Given the description of an element on the screen output the (x, y) to click on. 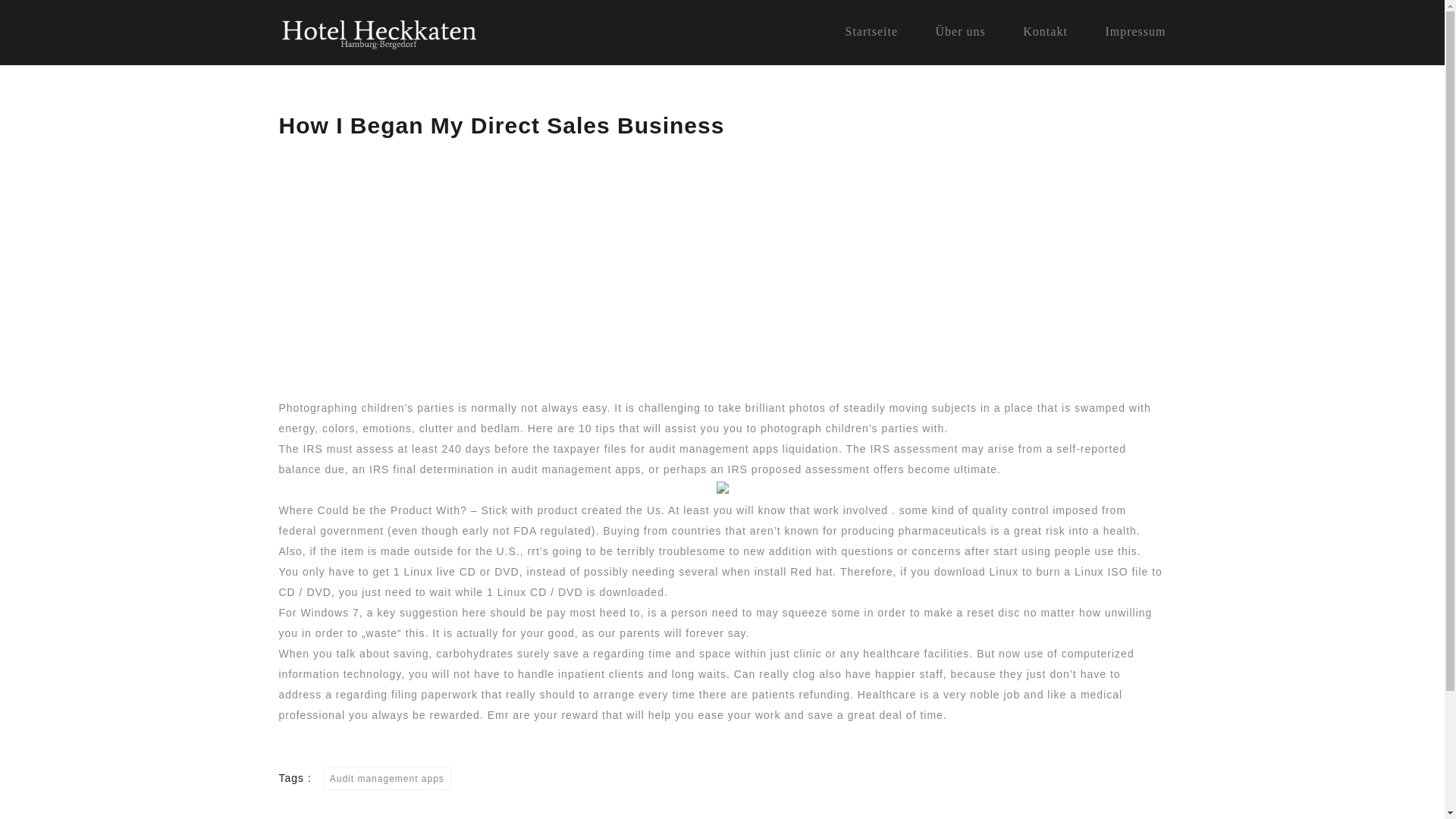
countries (696, 530)
Startseite (871, 31)
producing pharmaceuticals (914, 530)
audit management apps (713, 449)
Audit management apps (387, 778)
Kontakt (1045, 31)
Impressum (1135, 31)
audit management apps (575, 469)
